Given the description of an element on the screen output the (x, y) to click on. 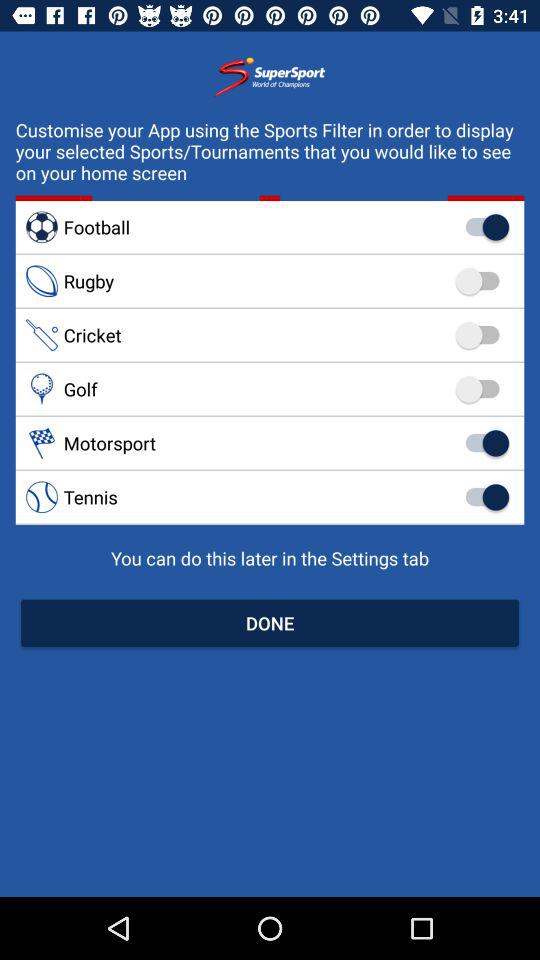
swipe until cricket icon (269, 335)
